Given the description of an element on the screen output the (x, y) to click on. 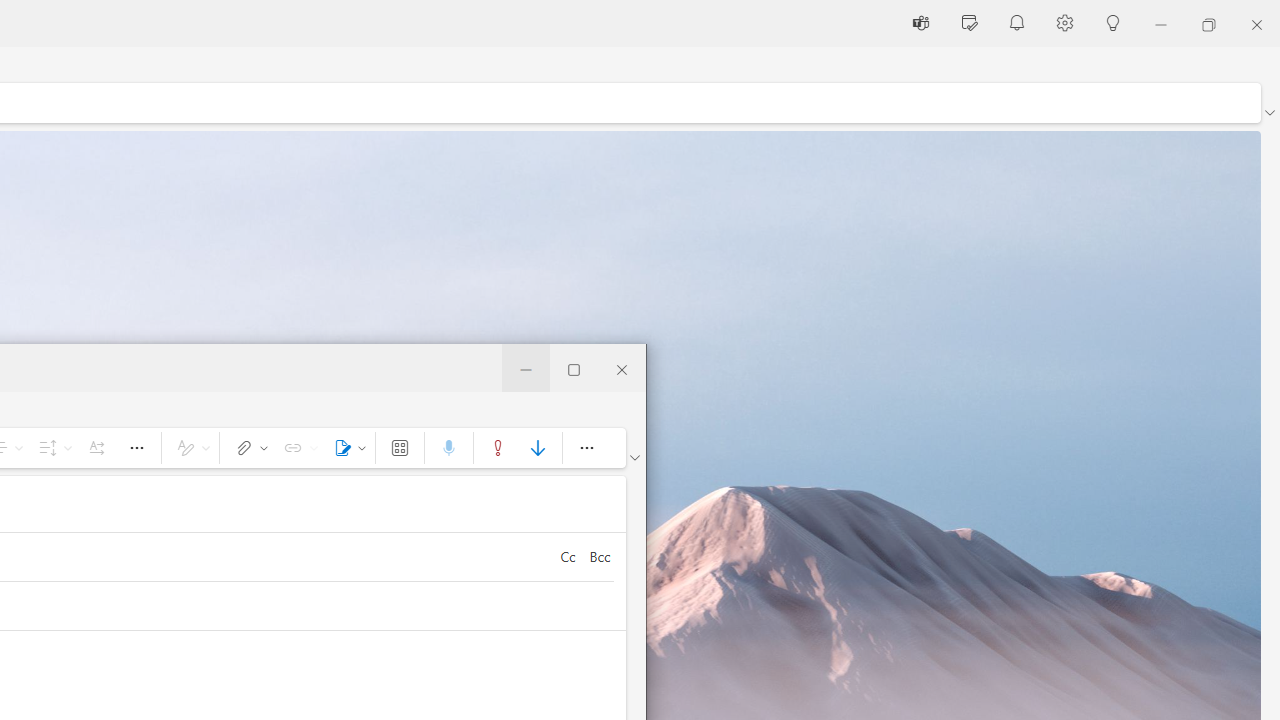
Styles (190, 447)
Link (297, 447)
Left-to-right (96, 447)
Low importance (538, 447)
High importance (497, 447)
Attach file (248, 447)
Bcc (599, 556)
Spacing (52, 447)
Dictate (448, 447)
Cc (567, 556)
Maximize (573, 367)
Apps (399, 447)
Ribbon display options (634, 457)
More options (586, 447)
